Given the description of an element on the screen output the (x, y) to click on. 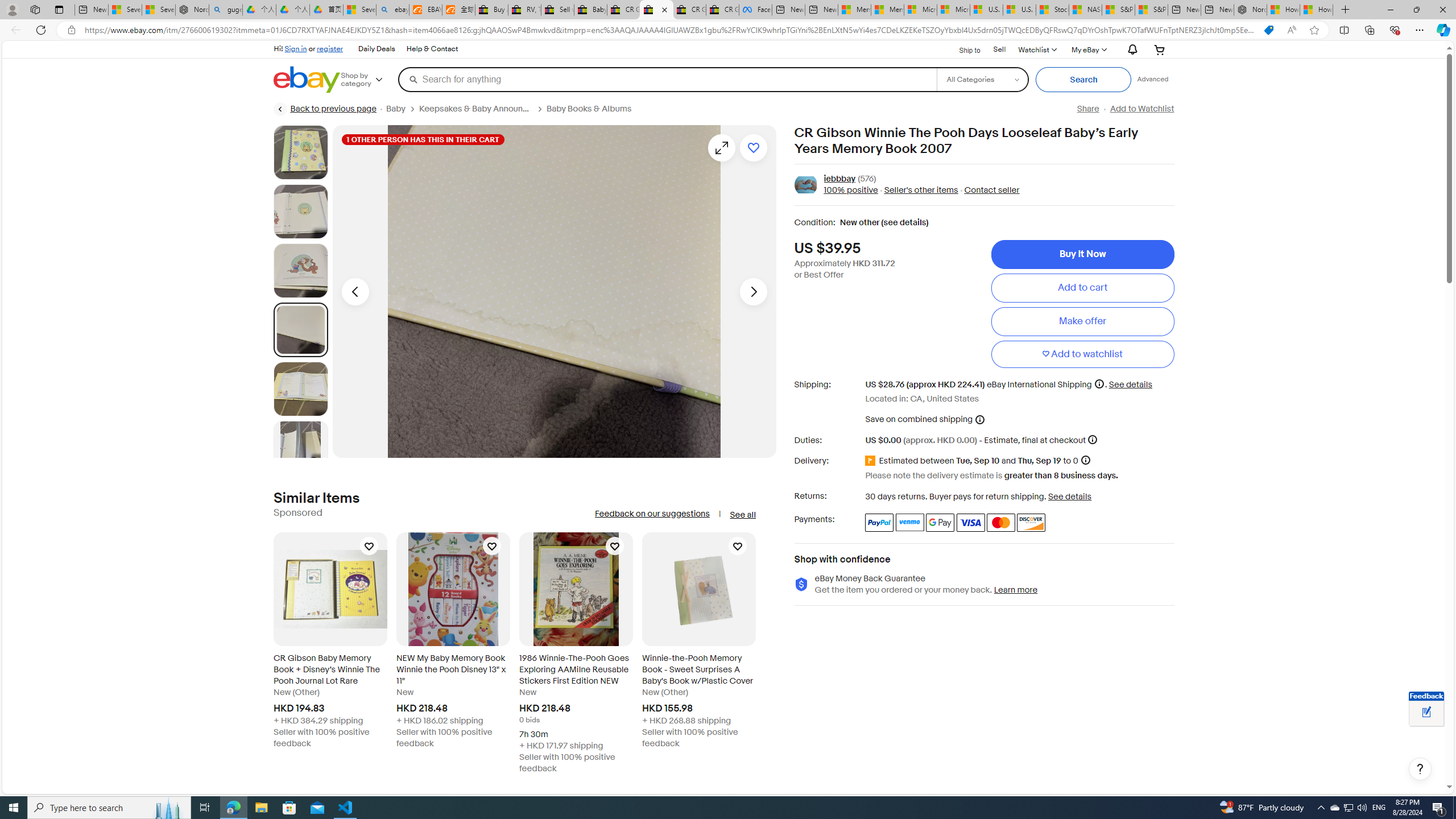
Picture 1 of 22 (300, 152)
Search for anything (666, 78)
Contact seller (991, 190)
Add to cart (1082, 287)
Address and search bar (669, 29)
Help, opens dialogs (1420, 768)
iebbbay (840, 179)
My eBay (1088, 49)
Venmo (909, 521)
